Given the description of an element on the screen output the (x, y) to click on. 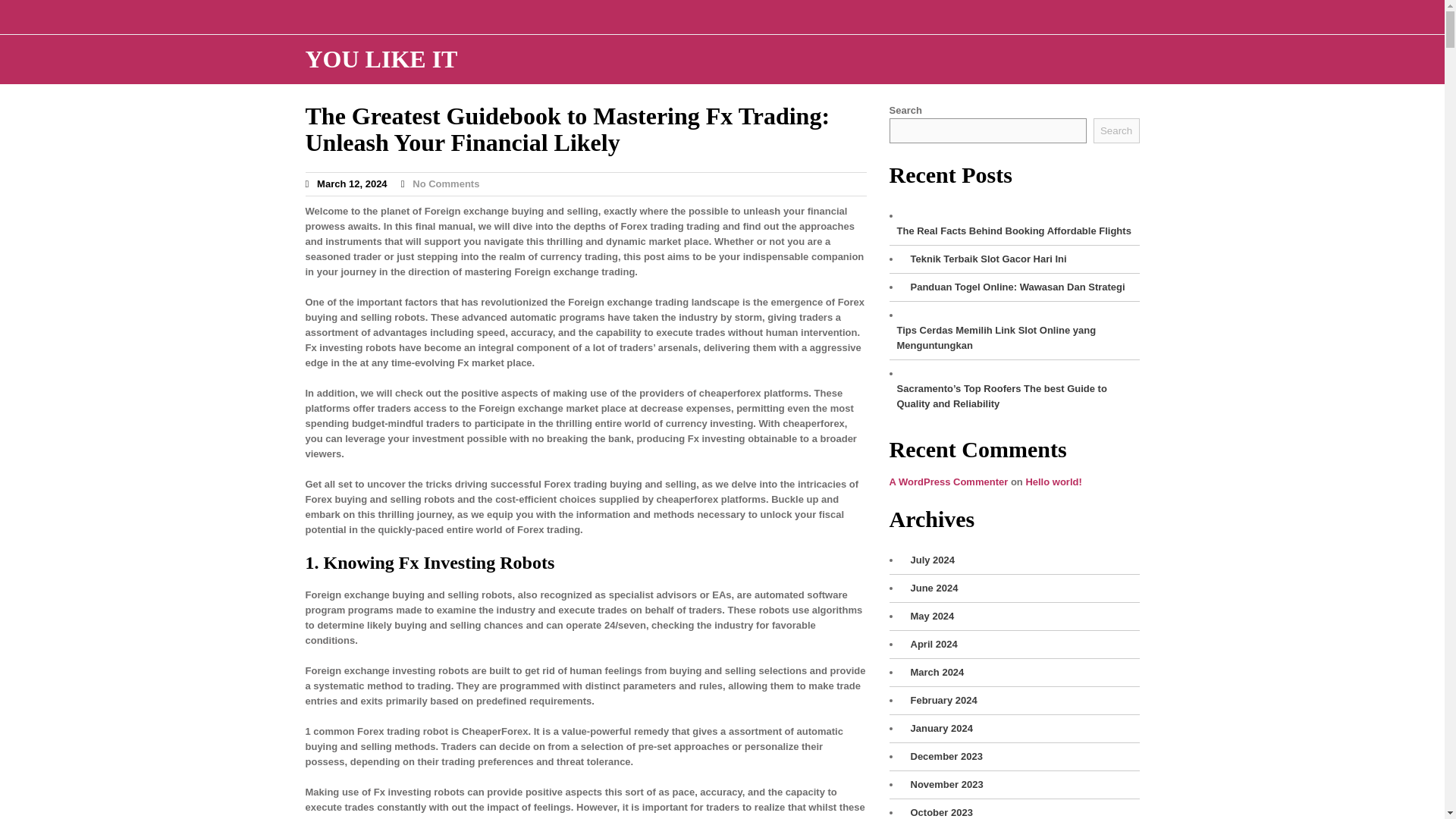
Teknik Terbaik Slot Gacor Hari Ini (983, 258)
March 2024 (932, 672)
A WordPress Commenter (947, 481)
Panduan Togel Online: Wawasan Dan Strategi (1013, 287)
April 2024 (929, 644)
YOU LIKE IT (380, 58)
January 2024 (937, 728)
July 2024 (928, 560)
June 2024 (930, 588)
The Real Facts Behind Booking Affordable Flights (1009, 231)
December 2023 (941, 756)
November 2023 (942, 784)
Tips Cerdas Memilih Link Slot Online yang Menguntungkan (1013, 337)
February 2024 (939, 700)
Search (1116, 130)
